Given the description of an element on the screen output the (x, y) to click on. 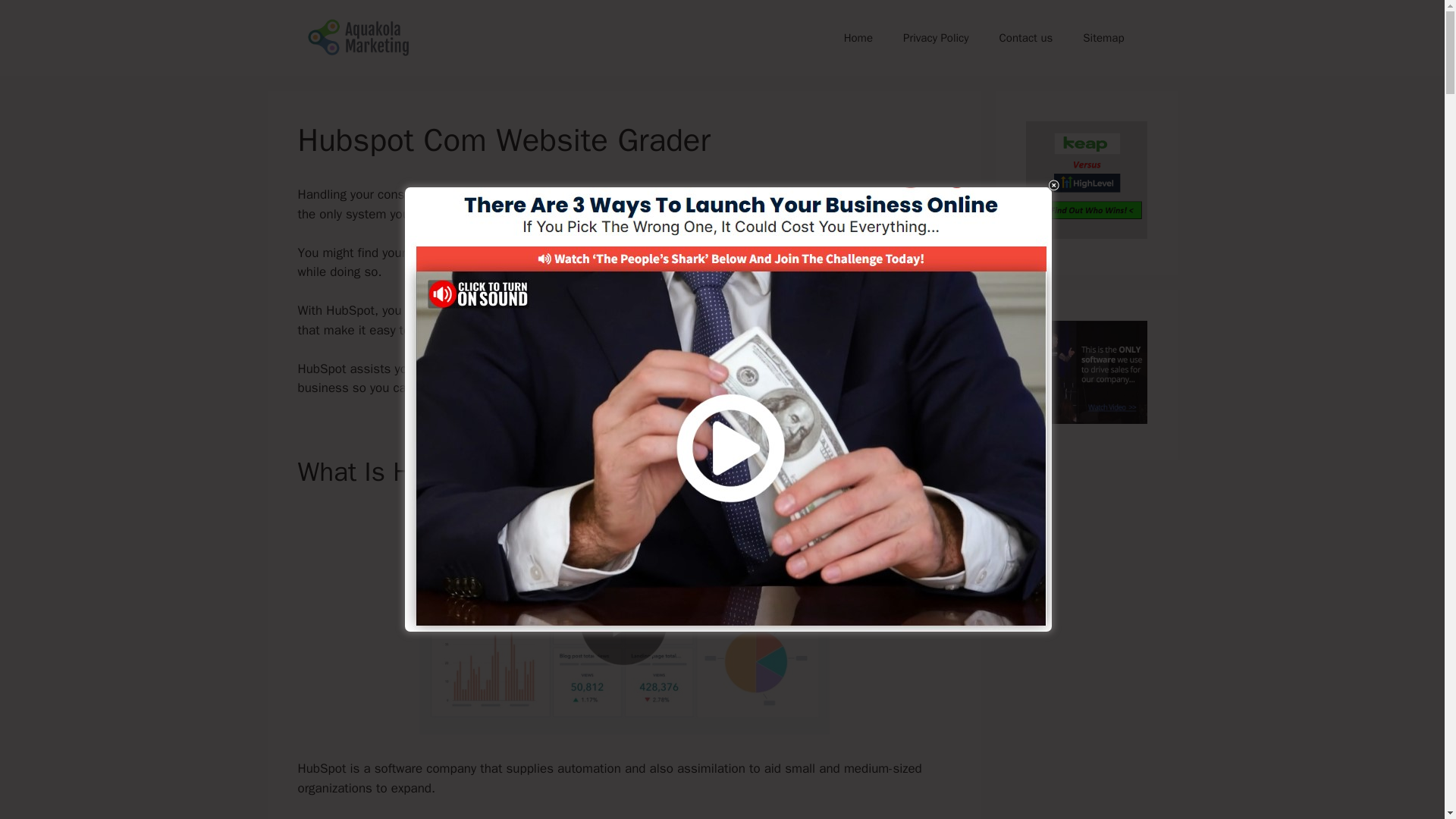
Contact us (1026, 37)
Home (858, 37)
Sitemap (1102, 37)
Privacy Policy (936, 37)
